Given the description of an element on the screen output the (x, y) to click on. 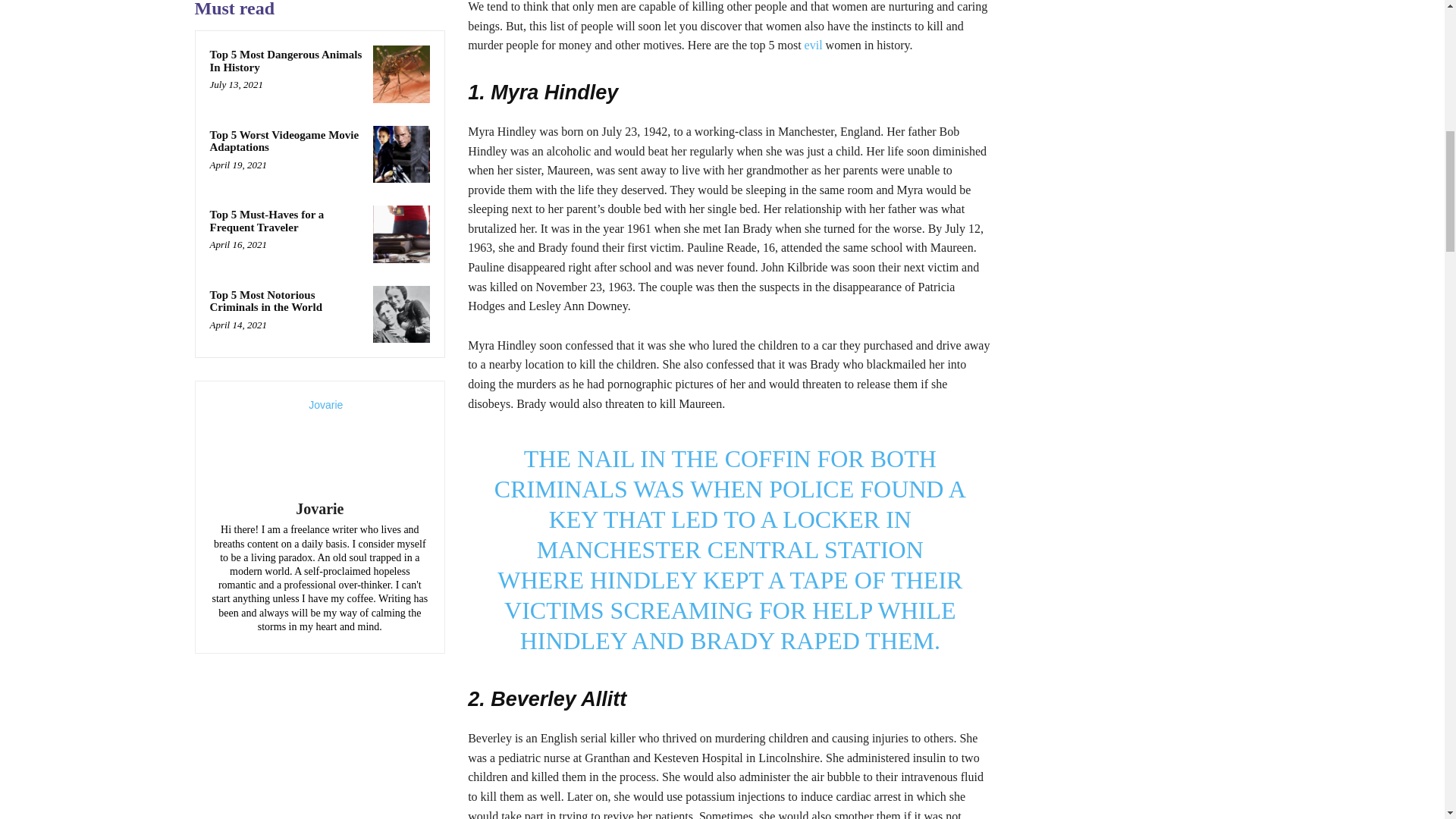
Top 5 Worst Videogame Movie Adaptations (283, 140)
Top 5 Most Dangerous Animals In History (285, 60)
Top 5 Worst Videogame Movie Adaptations (401, 154)
Top 5 Most Dangerous Animals In History (401, 74)
